Given the description of an element on the screen output the (x, y) to click on. 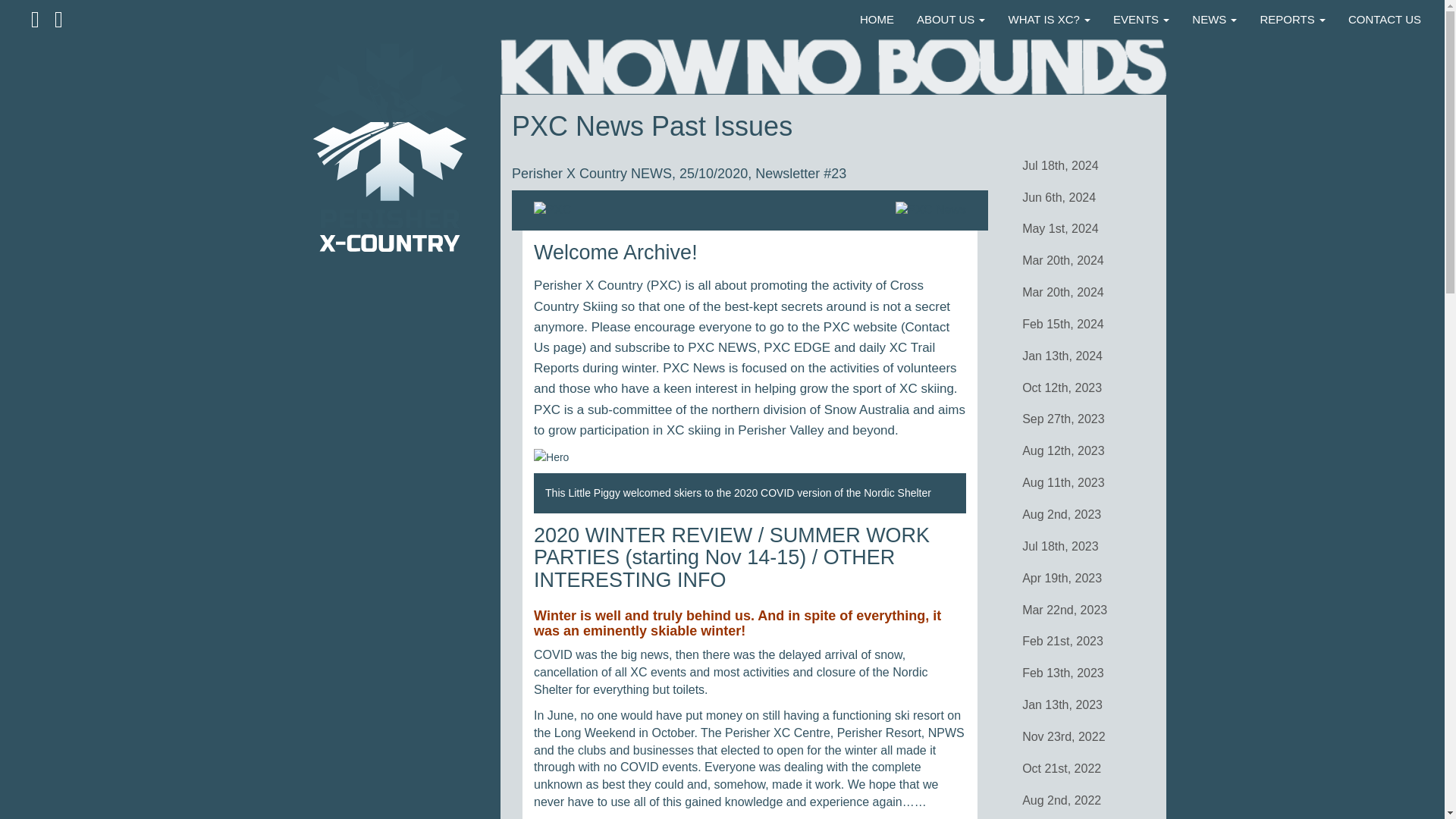
ABOUT US (951, 19)
WHAT IS XC? (1048, 19)
HOME (876, 19)
EVENTS (1141, 19)
NEWS (1213, 19)
